Given the description of an element on the screen output the (x, y) to click on. 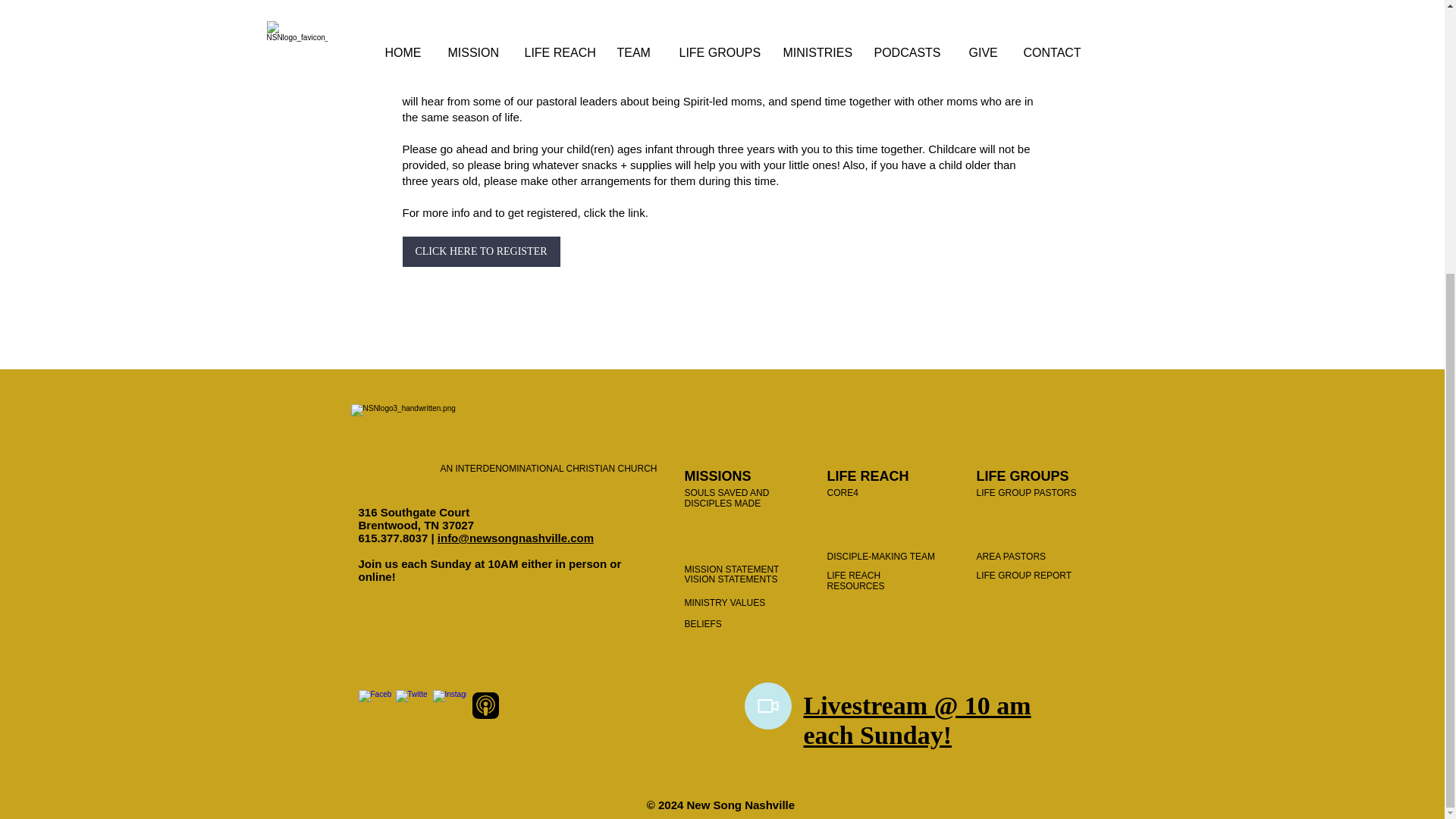
CORE4 (842, 492)
SOULS SAVED AND DISCIPLES MADE (726, 497)
CLICK HERE TO REGISTER (480, 251)
DISCIPLE-MAKING TEAM (880, 556)
AREA PASTORS (1011, 556)
LIFE REACH RESOURCES (855, 580)
MISSION STATEMENT (731, 569)
LIFE GROUP PASTORS (1026, 492)
VISION STATEMENTS (730, 579)
